Given the description of an element on the screen output the (x, y) to click on. 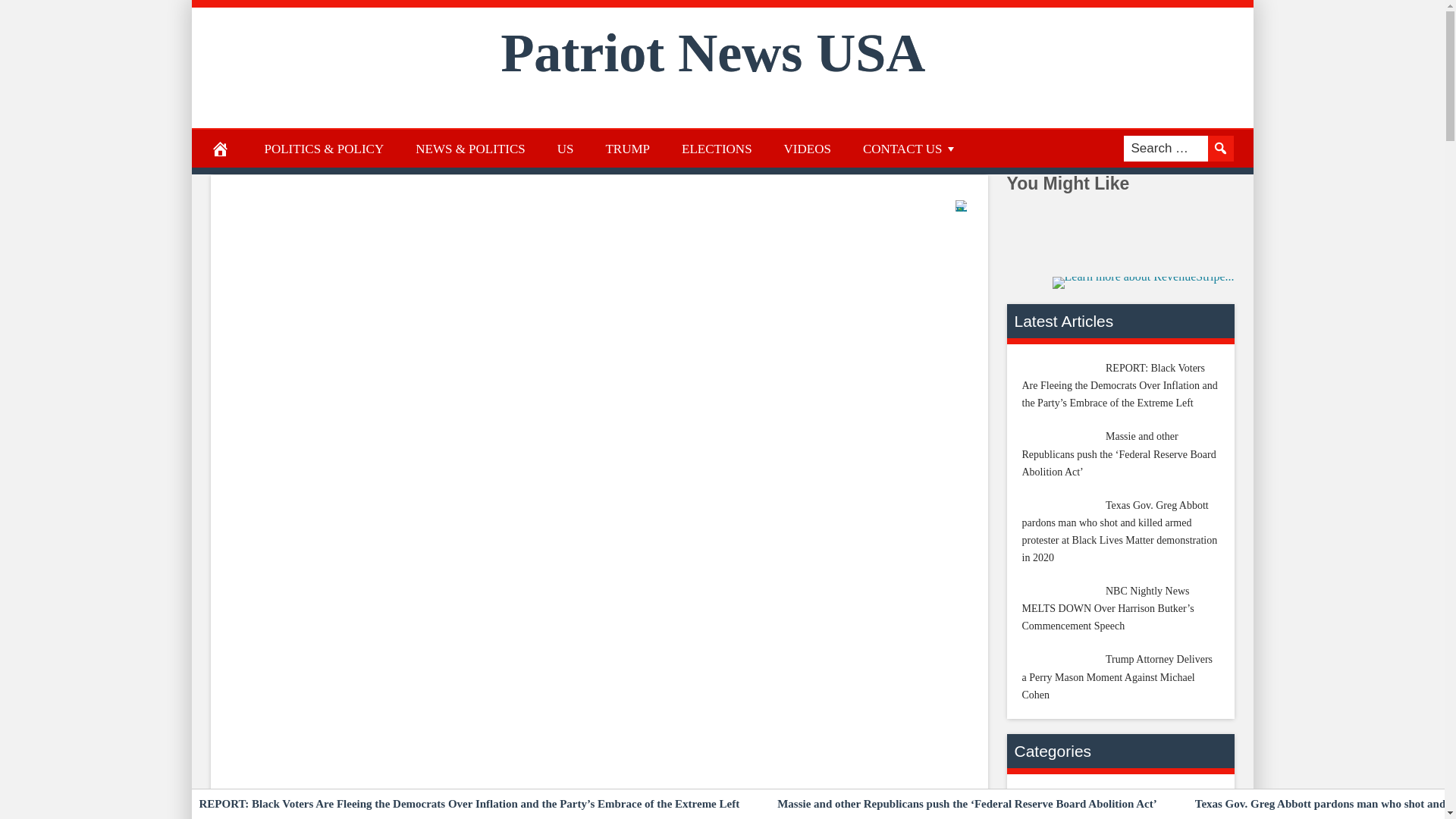
TRUMP (627, 148)
VIDEOS (807, 148)
Patriot News USA (712, 52)
US (565, 148)
CONTACT US (910, 148)
ELECTIONS (716, 148)
